Given the description of an element on the screen output the (x, y) to click on. 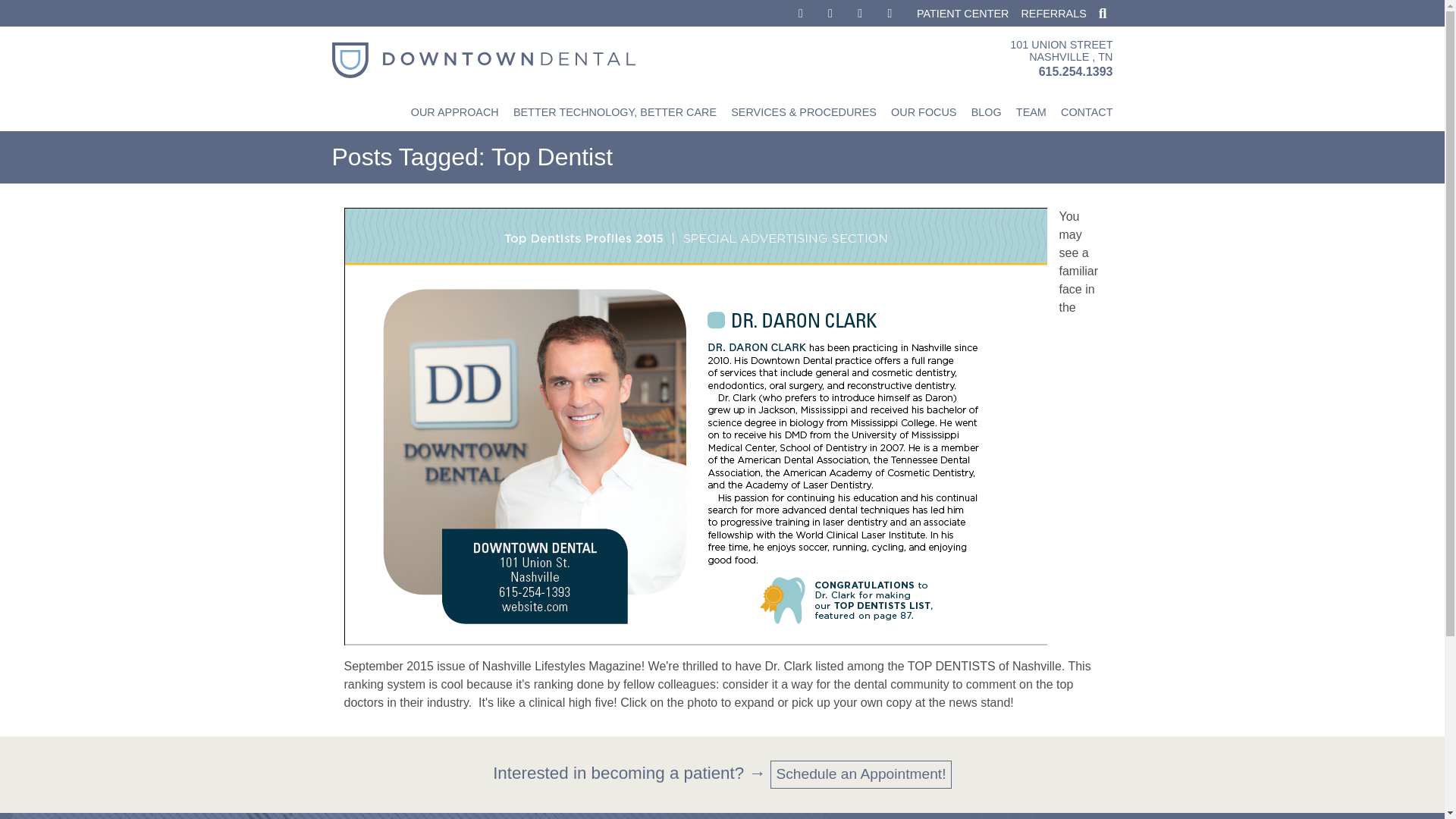
615.254.1393 (1076, 71)
OUR FOCUS (923, 112)
OUR APPROACH (454, 112)
BLOG (986, 112)
BETTER TECHNOLOGY, BETTER CARE (1061, 57)
Schedule an Appointment! (614, 112)
TEAM (861, 774)
PATIENT CENTER (1030, 112)
REFERRALS (962, 13)
CONTACT (1053, 13)
